Given the description of an element on the screen output the (x, y) to click on. 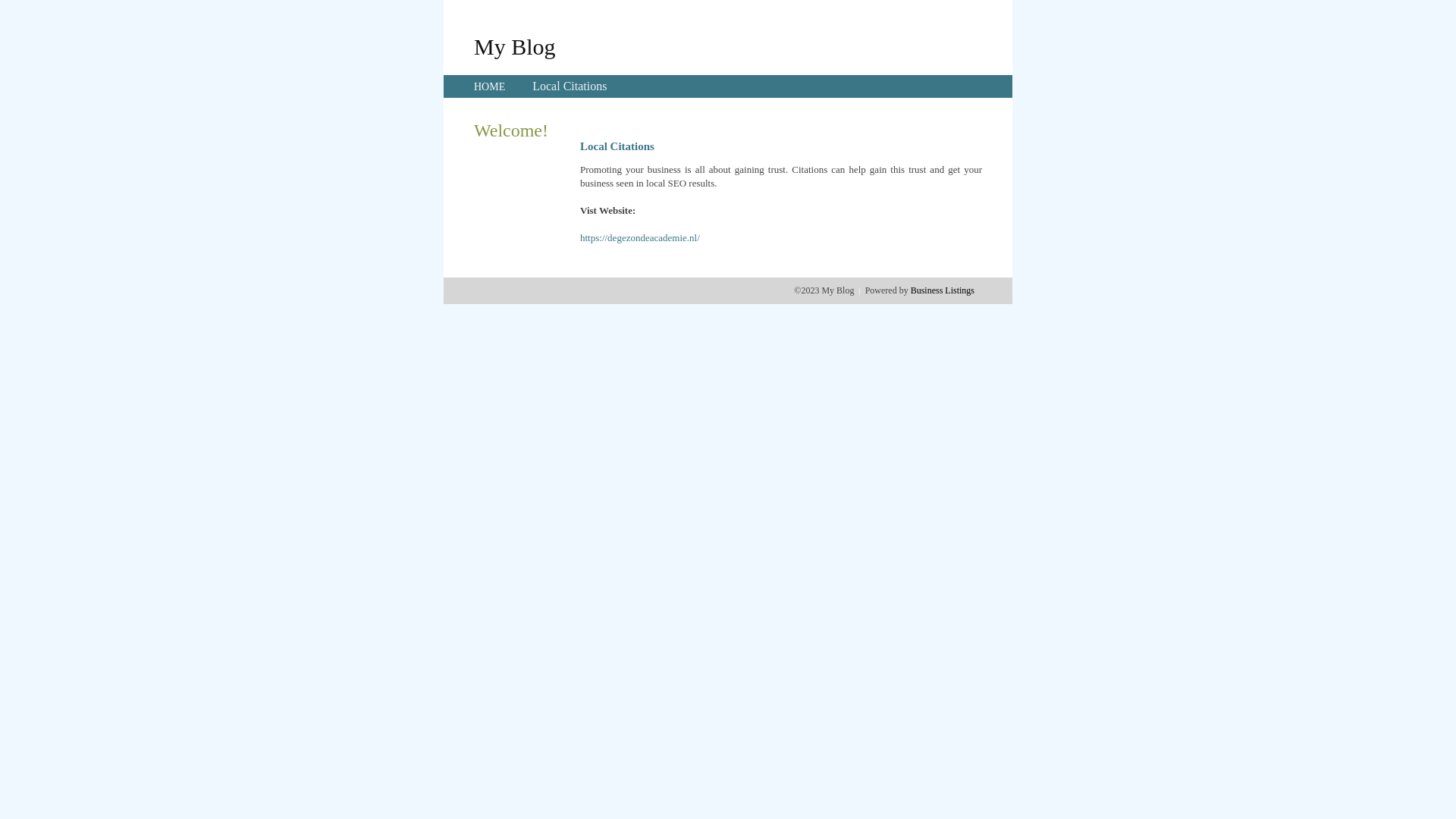
HOME Element type: text (489, 86)
https://degezondeacademie.nl/ Element type: text (639, 237)
My Blog Element type: text (514, 46)
Business Listings Element type: text (942, 290)
Local Citations Element type: text (569, 85)
